Given the description of an element on the screen output the (x, y) to click on. 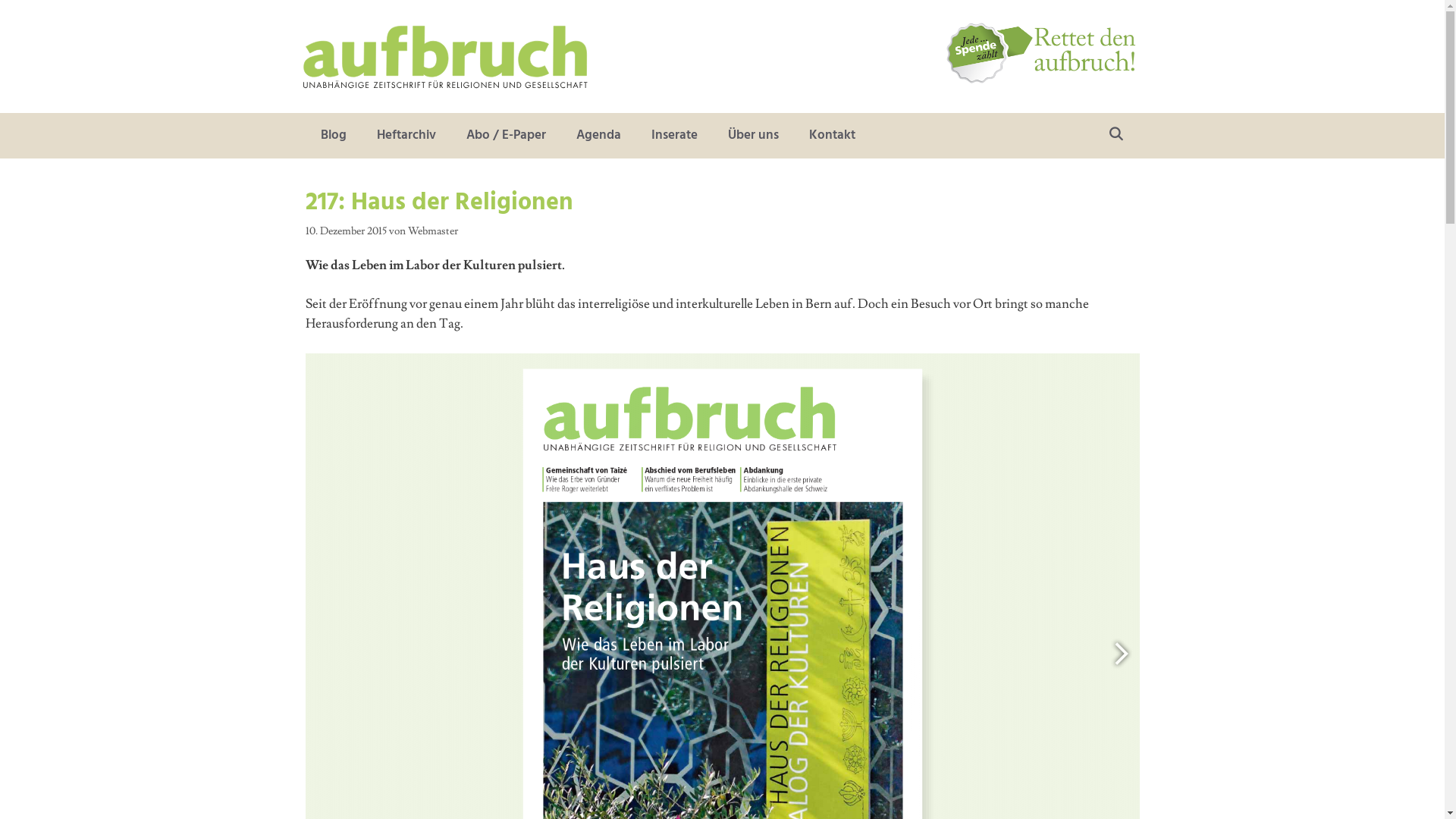
Heftarchiv Element type: text (405, 135)
Blog Element type: text (332, 135)
Kontakt Element type: text (831, 135)
Vorherige Seite Element type: hover (1120, 656)
Inserate Element type: text (673, 135)
Webmaster Element type: text (432, 230)
Abo / E-Paper Element type: text (505, 135)
Agenda Element type: text (598, 135)
